Given the description of an element on the screen output the (x, y) to click on. 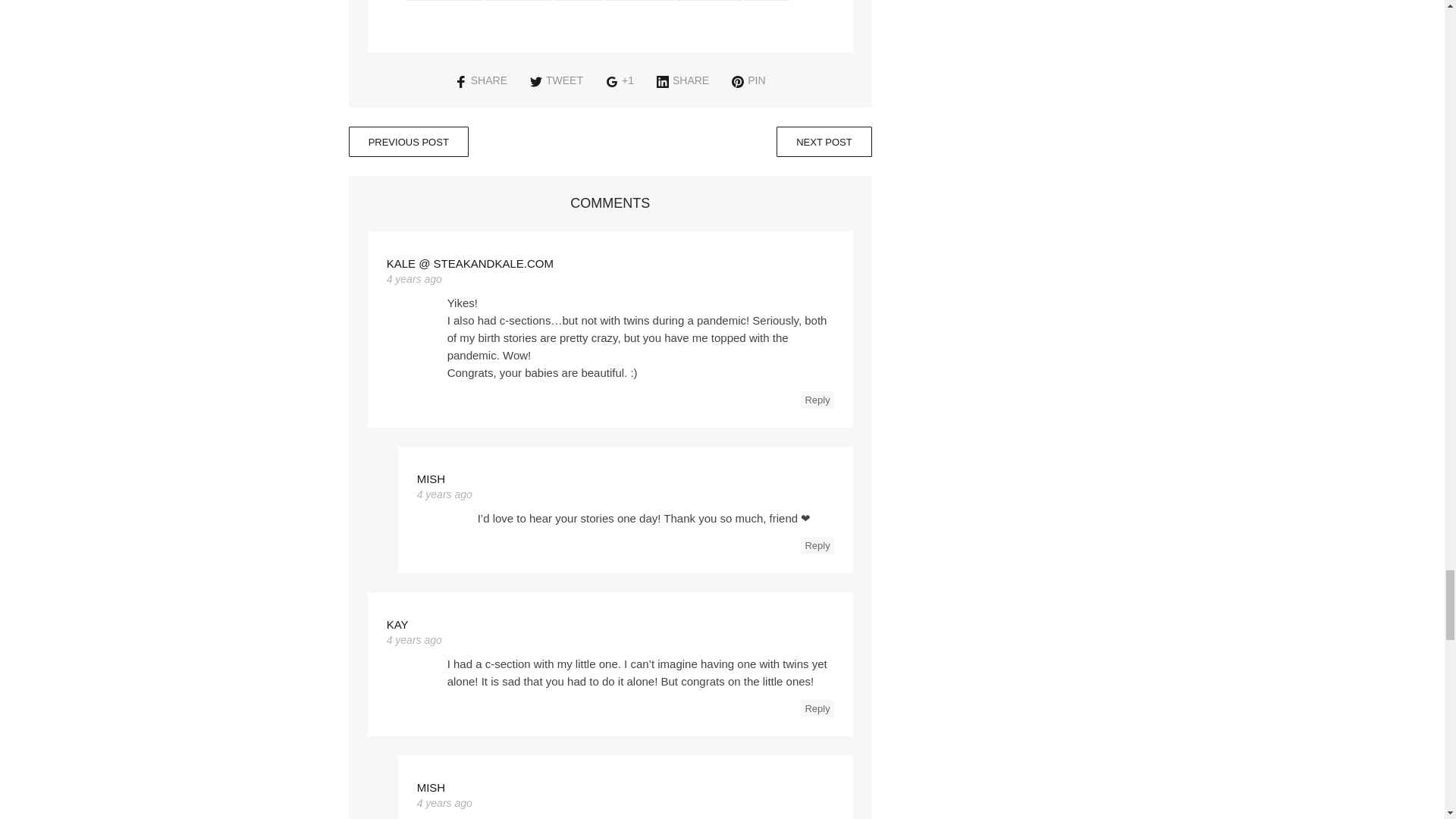
pandemic (517, 0)
SAHM (577, 0)
